Given the description of an element on the screen output the (x, y) to click on. 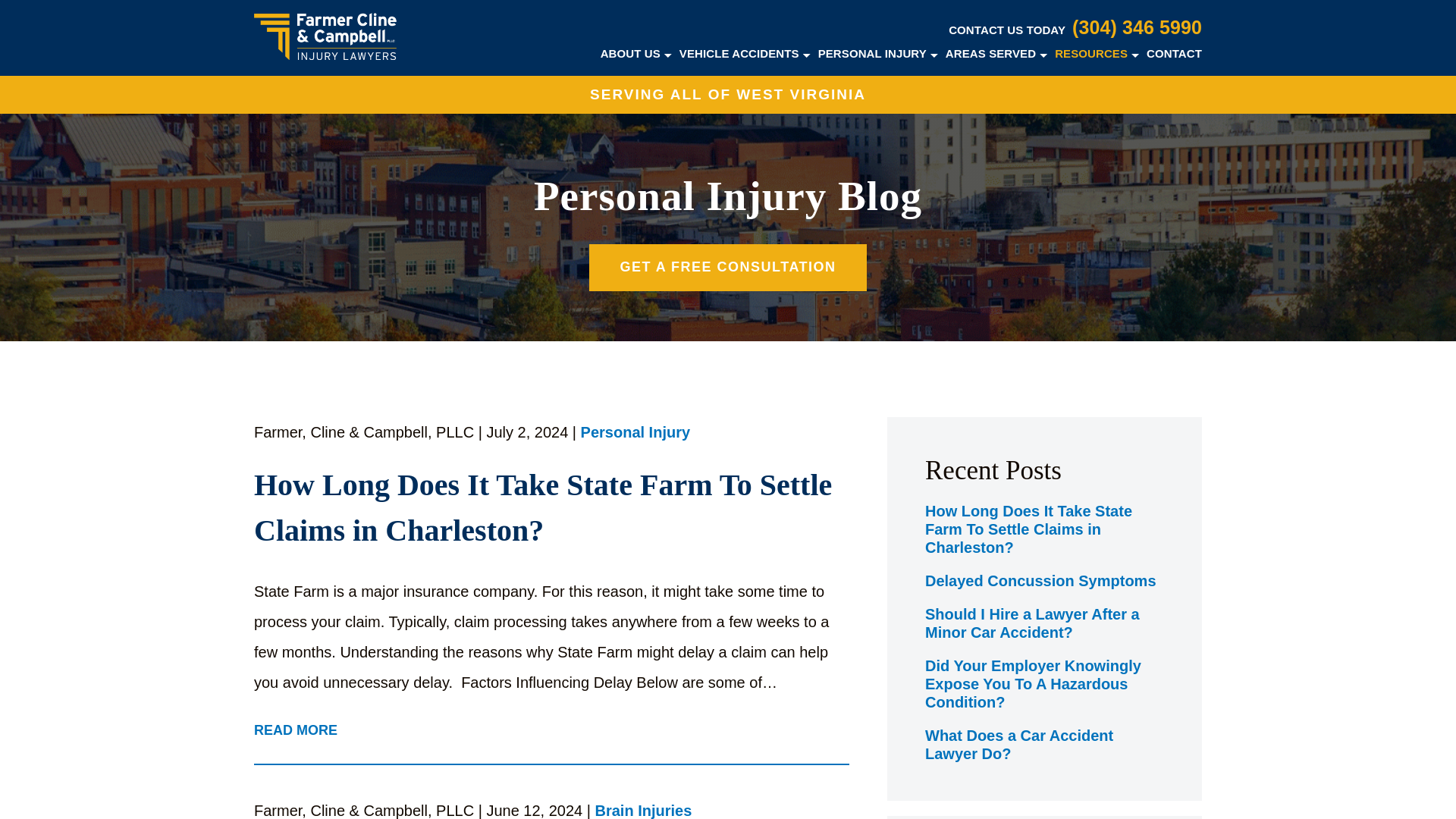
AREAS SERVED (989, 52)
Personal Injury (635, 433)
VEHICLE ACCIDENTS (739, 52)
READ MORE (295, 731)
GET A FREE CONSULTATION (727, 267)
Brain Injuries (644, 810)
ABOUT US (630, 52)
RESOURCES (1090, 52)
PERSONAL INJURY (872, 52)
CONTACT (1174, 52)
